Given the description of an element on the screen output the (x, y) to click on. 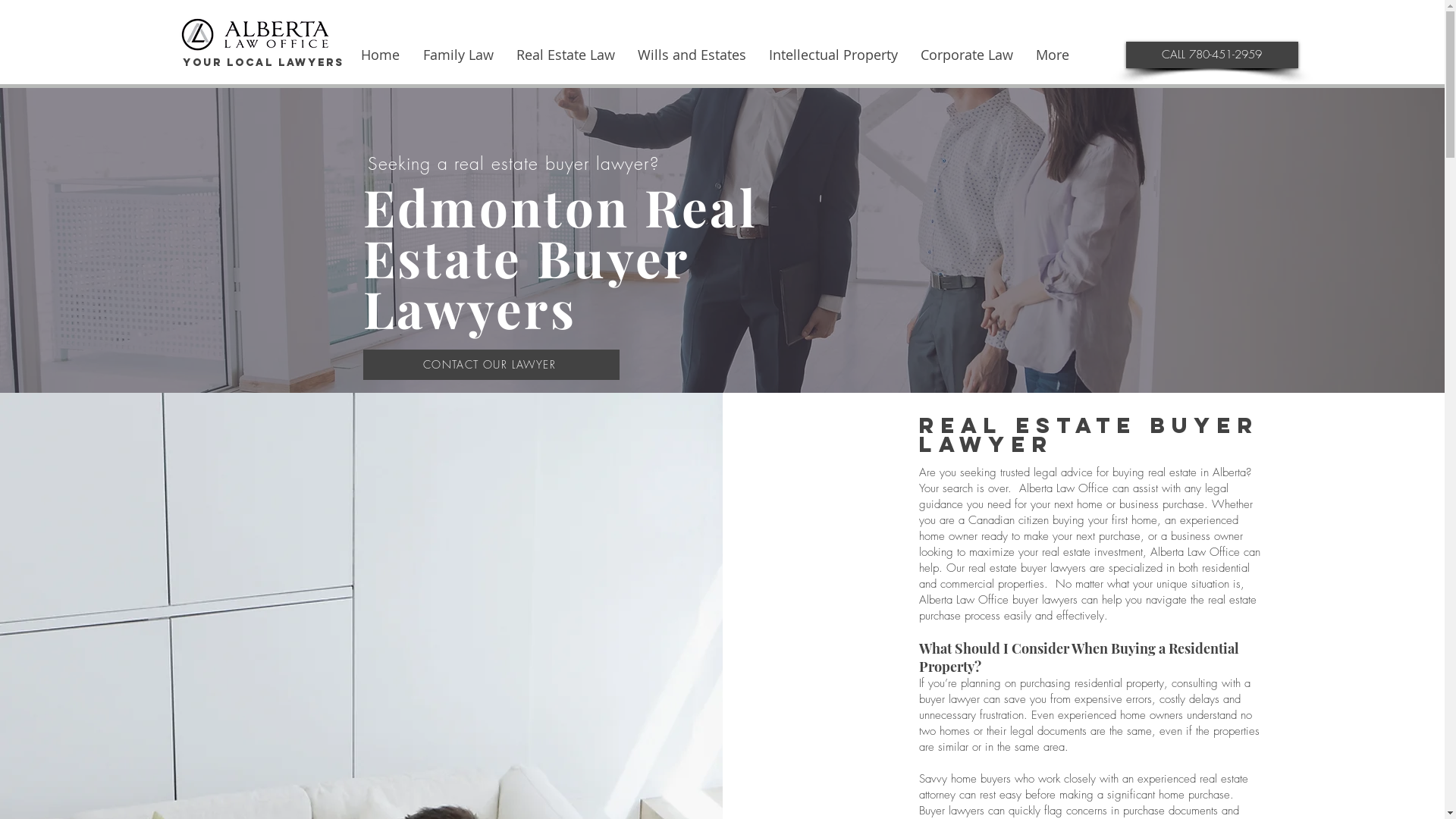
Wills and Estates Element type: text (691, 54)
Real Estate Law Element type: text (565, 54)
Family Law Element type: text (457, 54)
Home Element type: text (379, 54)
Intellectual Property Element type: text (832, 54)
CALL 780-451-2959 Element type: text (1211, 54)
CONTACT OUR LAWYER Element type: text (490, 363)
Corporate Law Element type: text (965, 54)
